Given the description of an element on the screen output the (x, y) to click on. 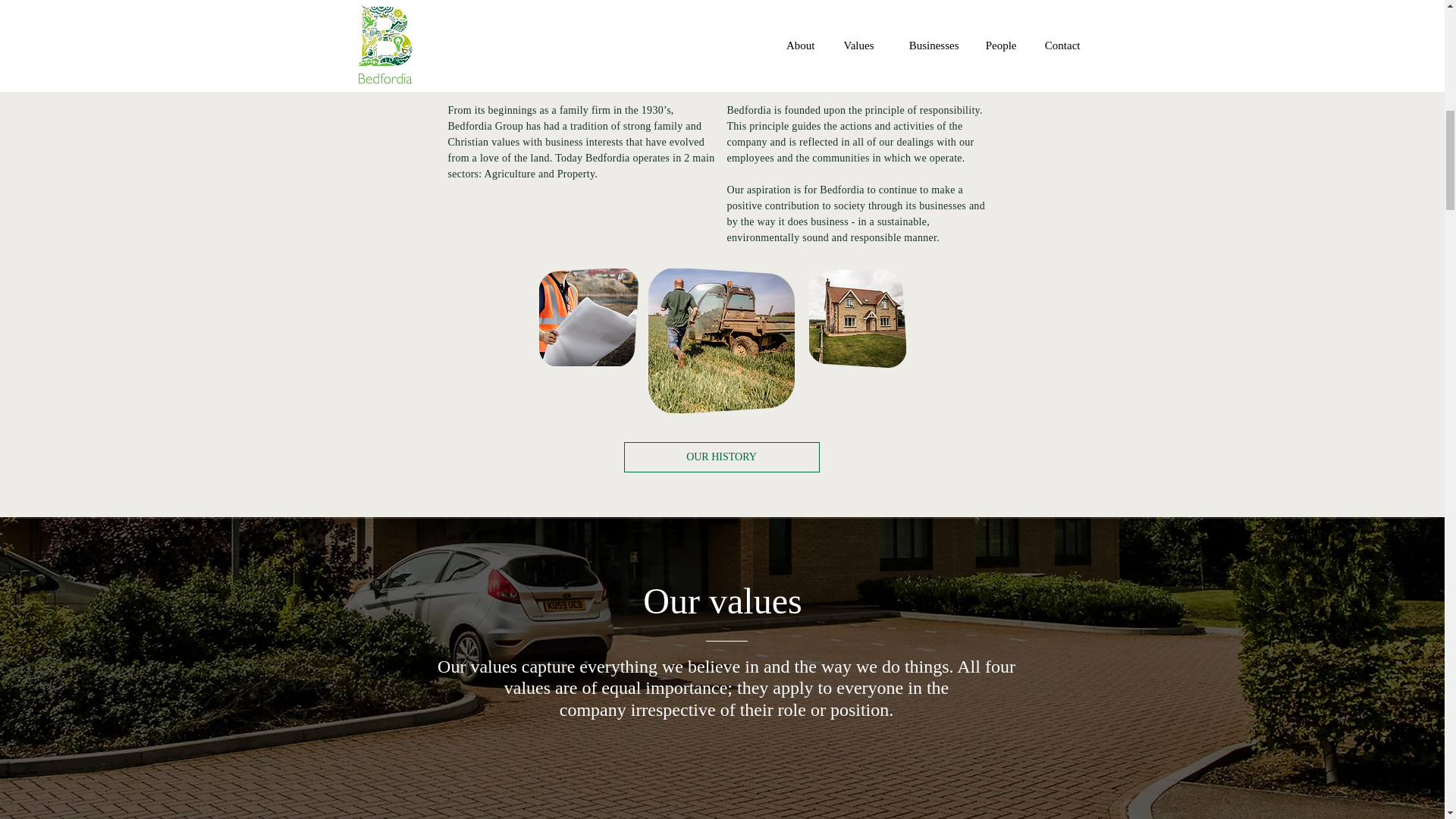
OUR HISTORY (720, 457)
